Given the description of an element on the screen output the (x, y) to click on. 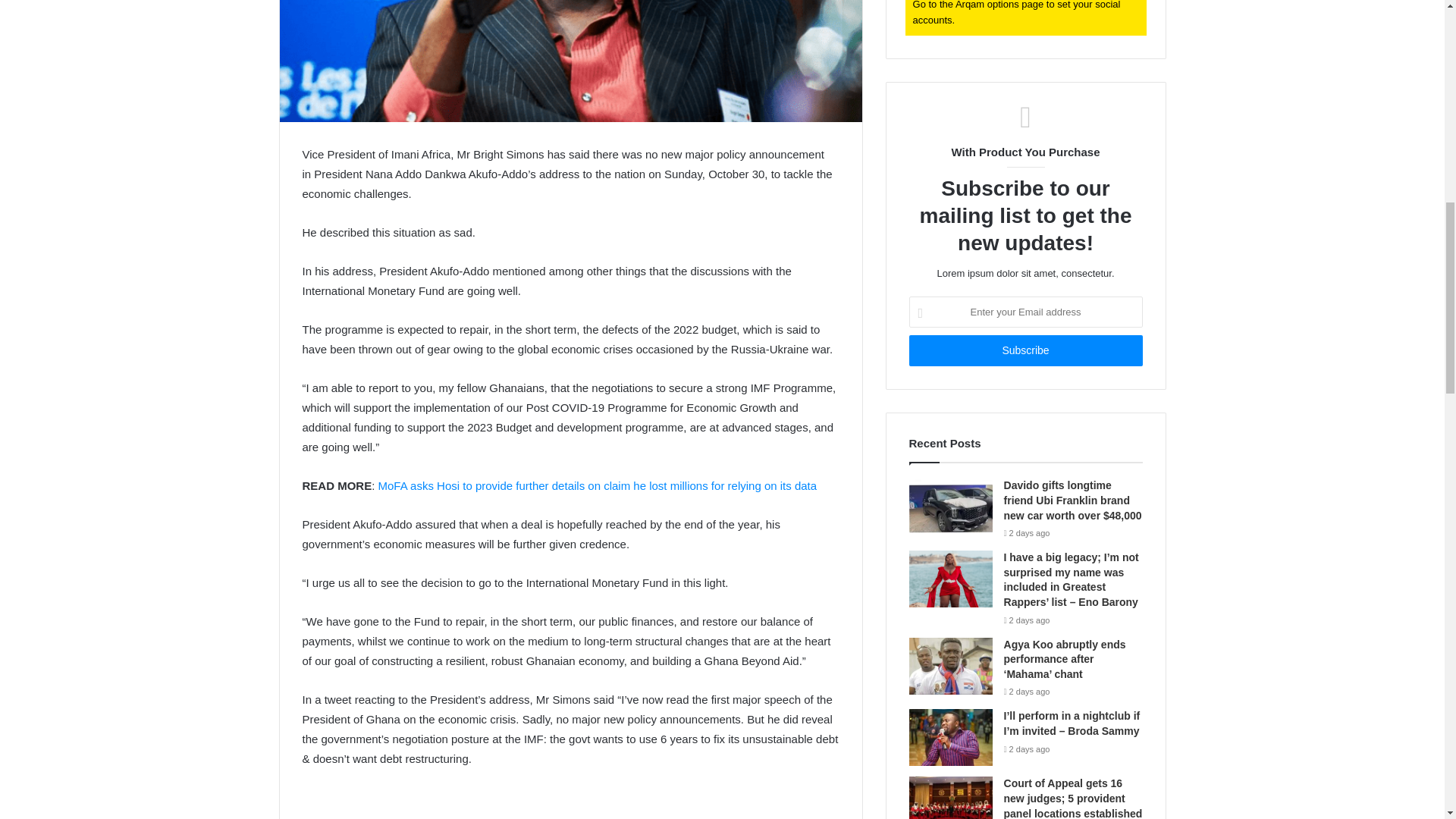
Subscribe (1025, 350)
